Given the description of an element on the screen output the (x, y) to click on. 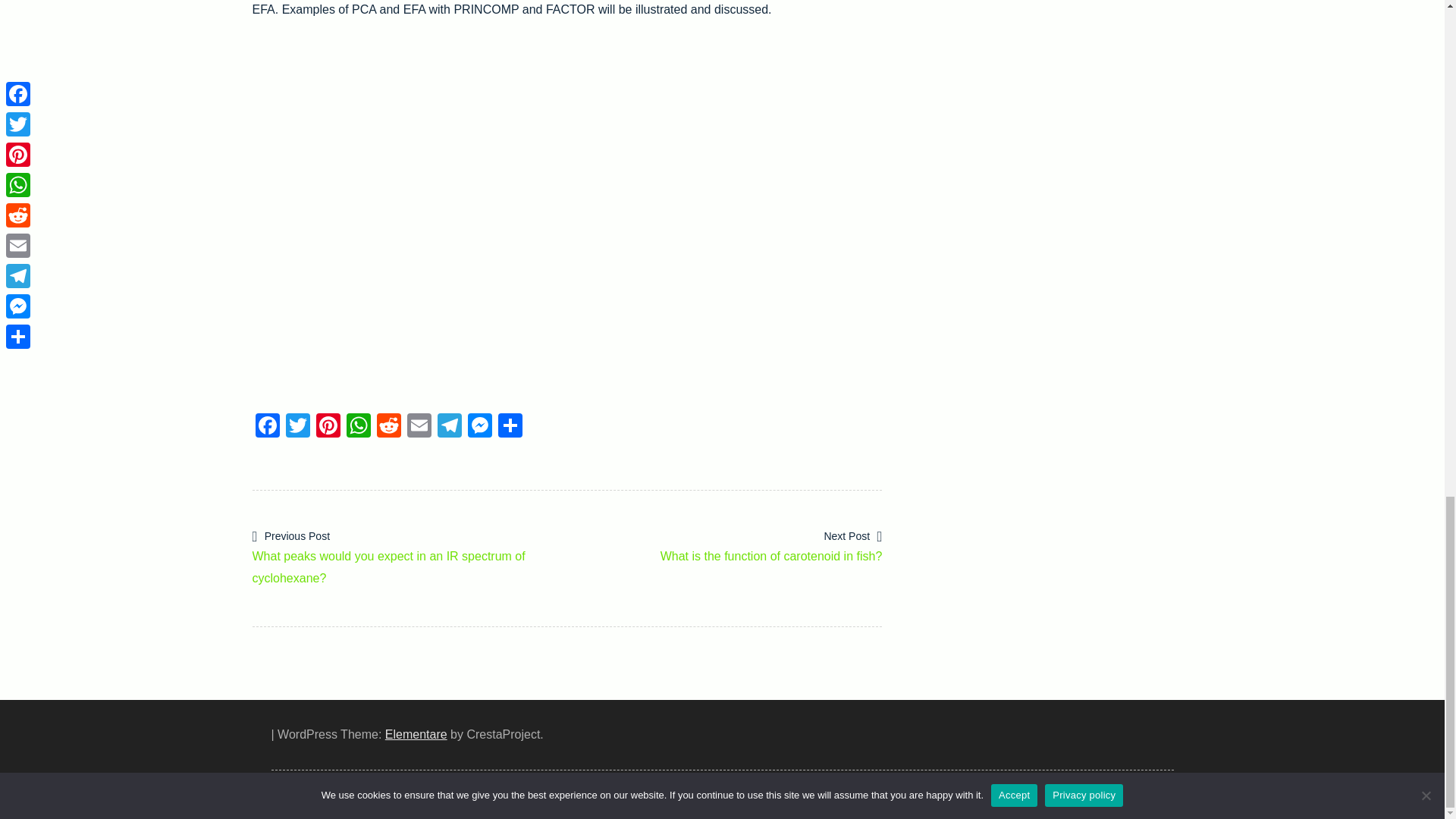
Twitter (297, 427)
Messenger (479, 427)
Email (418, 427)
WhatsApp (357, 427)
Elementare Theme (415, 734)
Elementare (415, 734)
WhatsApp (357, 427)
Telegram (448, 427)
Facebook (266, 427)
Telegram (448, 427)
Twitter (297, 427)
Pinterest (327, 427)
Email (418, 427)
